Given the description of an element on the screen output the (x, y) to click on. 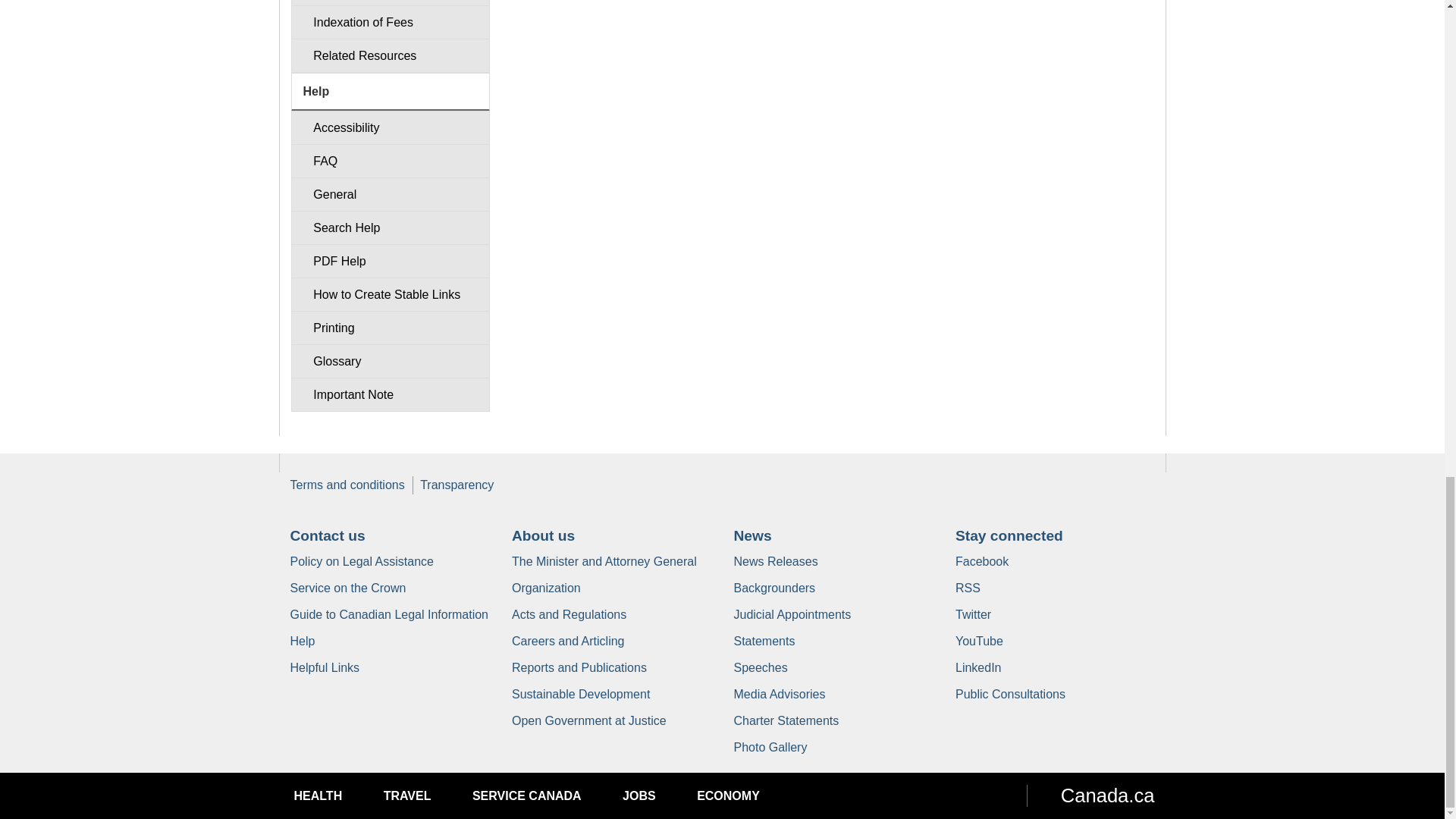
Frequently Asked Questions (390, 161)
Helpful links (324, 667)
General Help (390, 194)
Consolidated Index of Statutory Instruments (390, 2)
Accessibility Help (390, 127)
Indexation of Fees (390, 21)
Printing Help (390, 327)
Related Resources (390, 55)
